Given the description of an element on the screen output the (x, y) to click on. 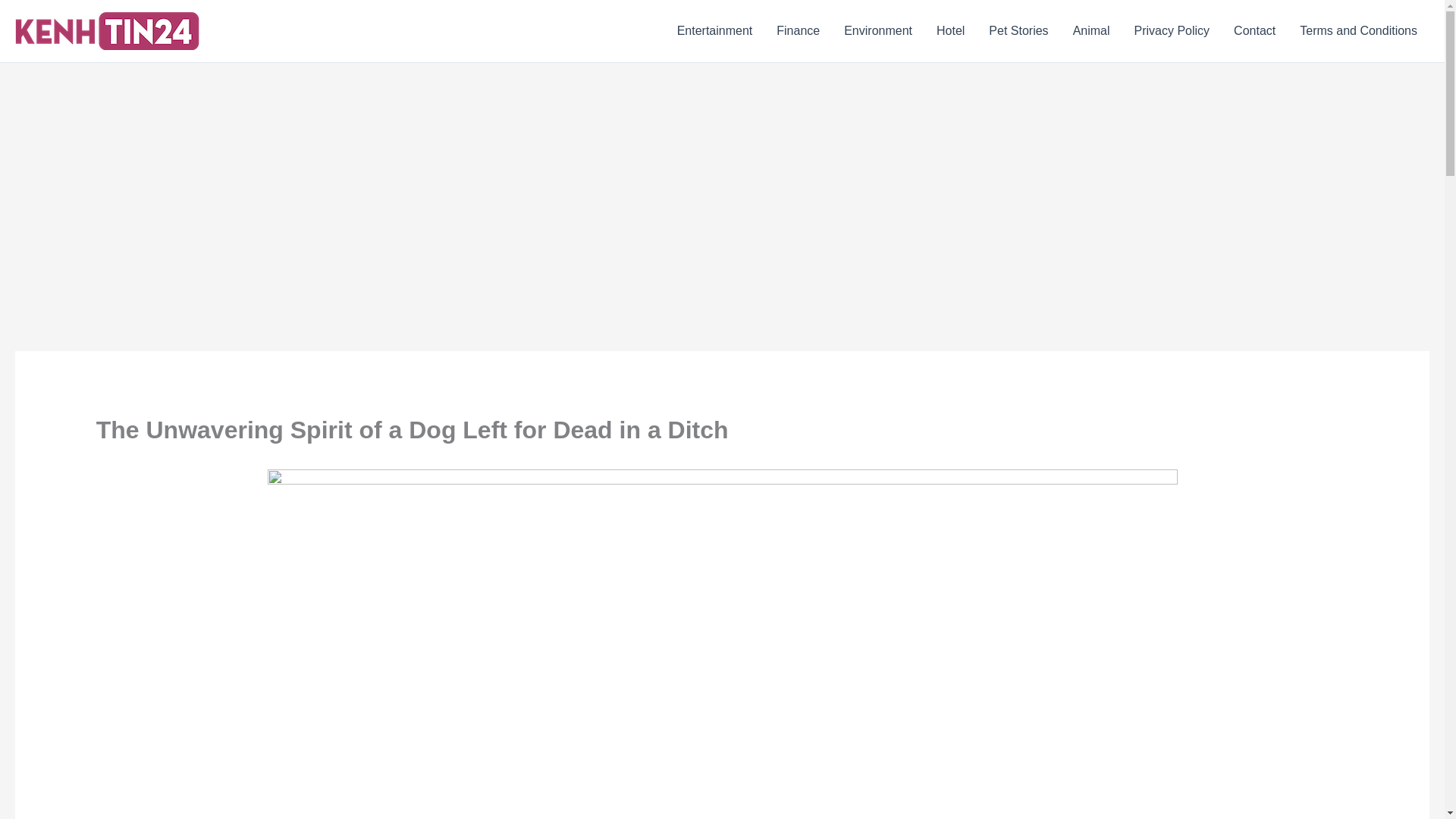
Privacy Policy (1172, 30)
Pet Stories (1017, 30)
Animal (1091, 30)
Finance (797, 30)
Hotel (950, 30)
Contact (1254, 30)
Entertainment (715, 30)
Environment (877, 30)
Terms and Conditions (1358, 30)
